Given the description of an element on the screen output the (x, y) to click on. 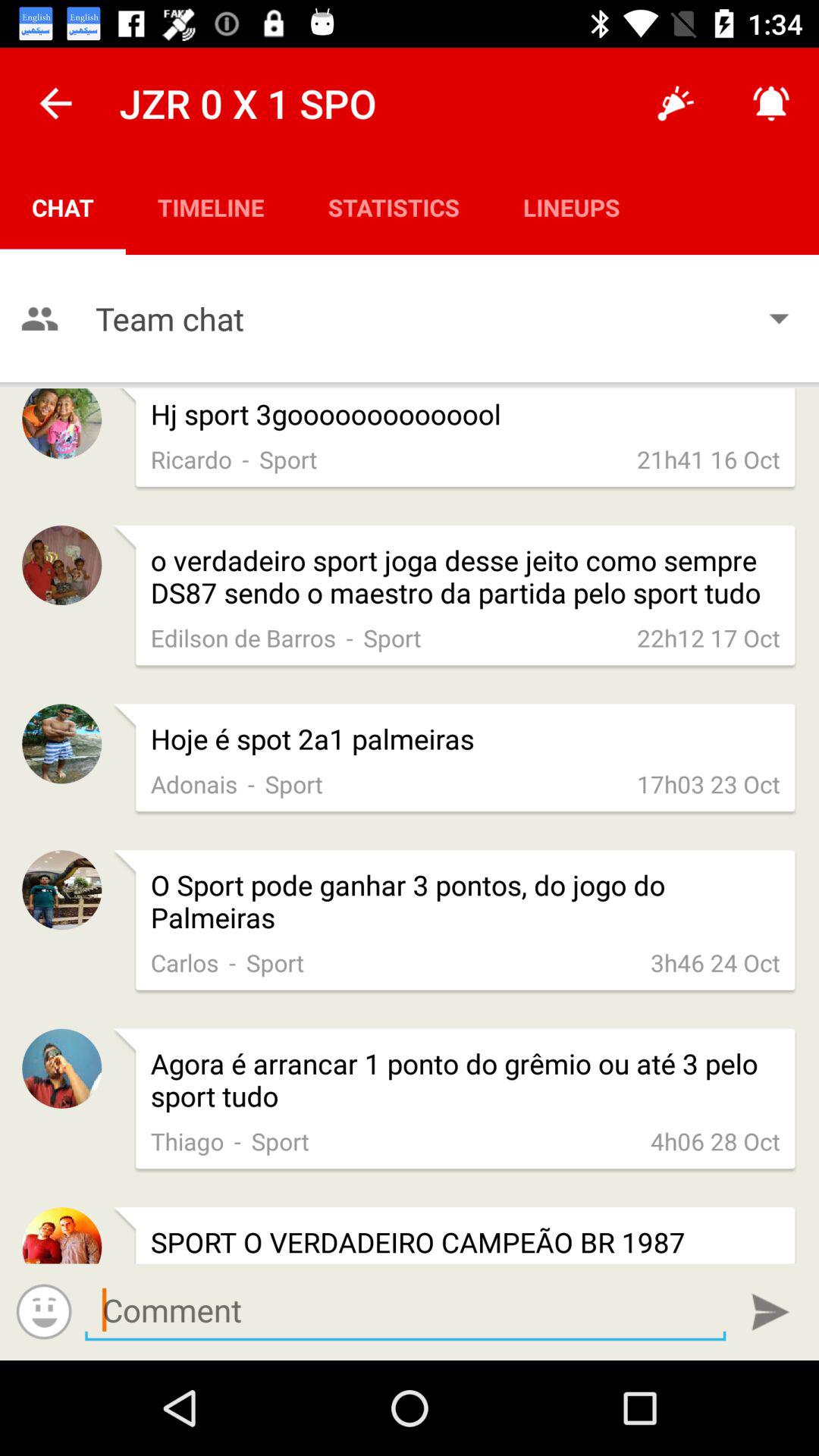
tap app below the hj sport 3goooooooooooool app (191, 459)
